Given the description of an element on the screen output the (x, y) to click on. 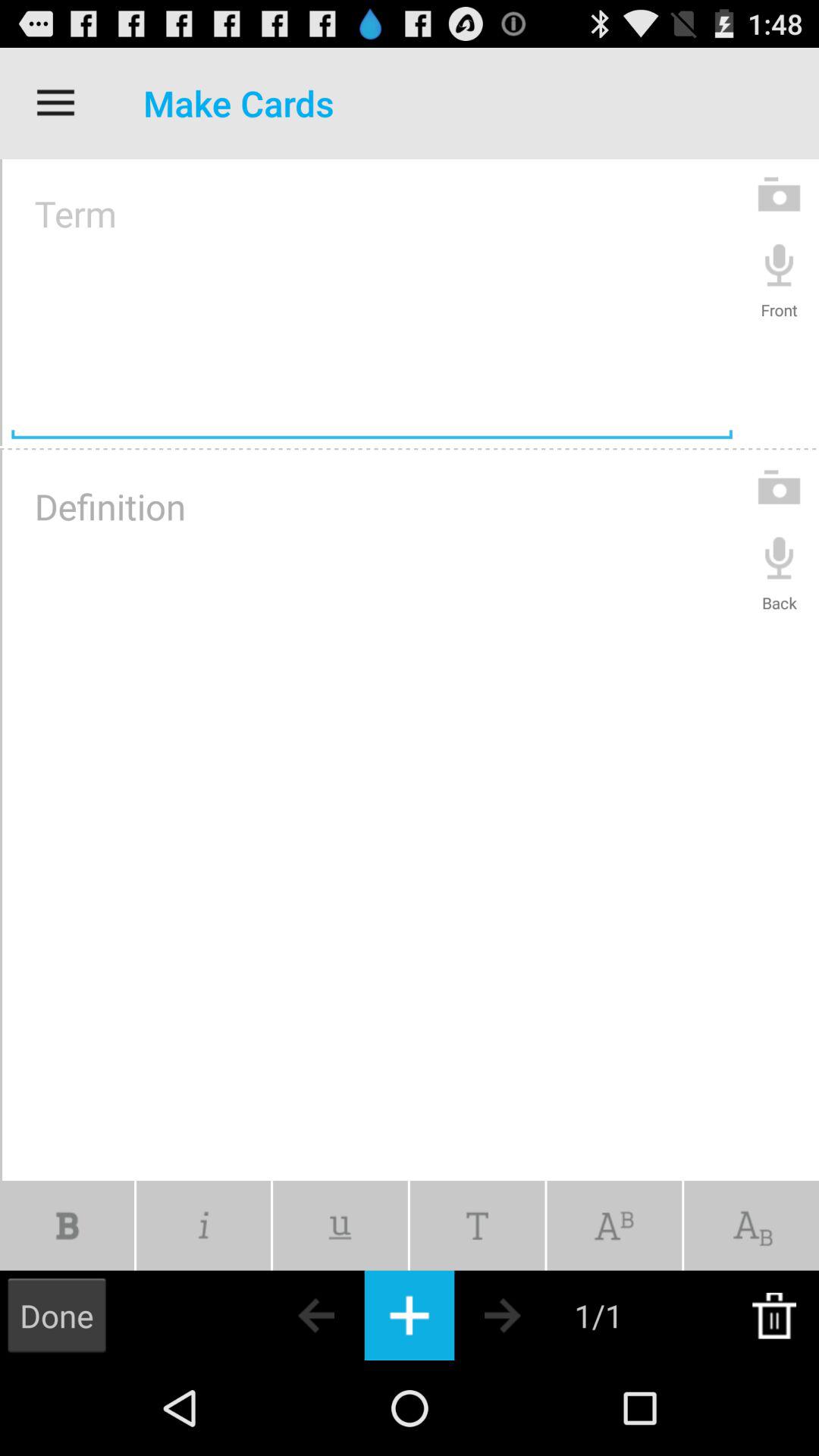
delete the data (774, 1315)
